Given the description of an element on the screen output the (x, y) to click on. 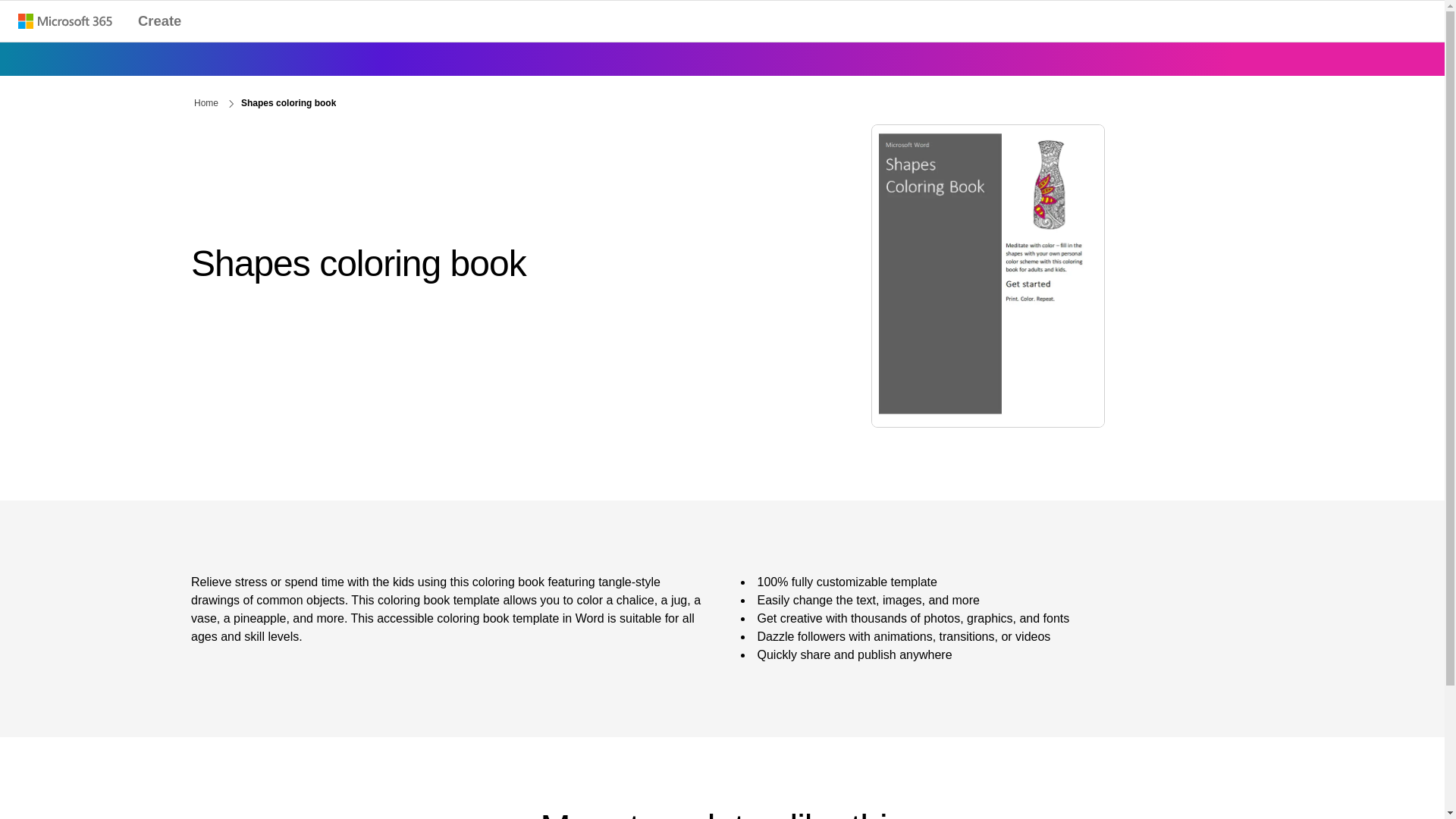
Create (159, 21)
